Given the description of an element on the screen output the (x, y) to click on. 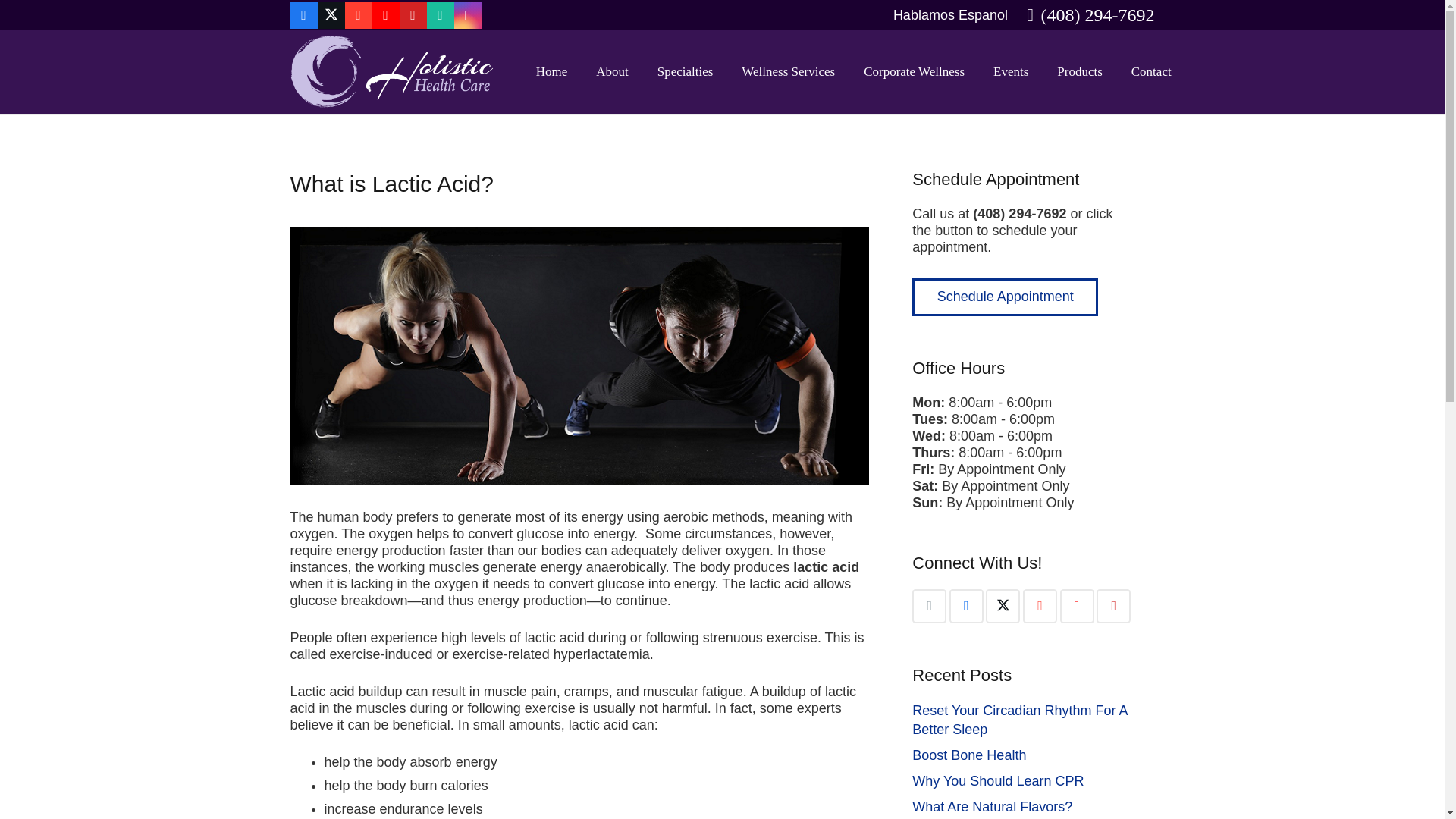
Corporate Wellness (913, 71)
Instagram (466, 14)
Yelp (1113, 605)
Products (1079, 71)
Specialties (685, 71)
YouTube (384, 14)
Email (929, 605)
Google (357, 14)
Title (439, 14)
Contact (1151, 71)
About (611, 71)
Twitter (1002, 605)
Google (1040, 605)
Events (1010, 71)
Twitter (330, 14)
